Given the description of an element on the screen output the (x, y) to click on. 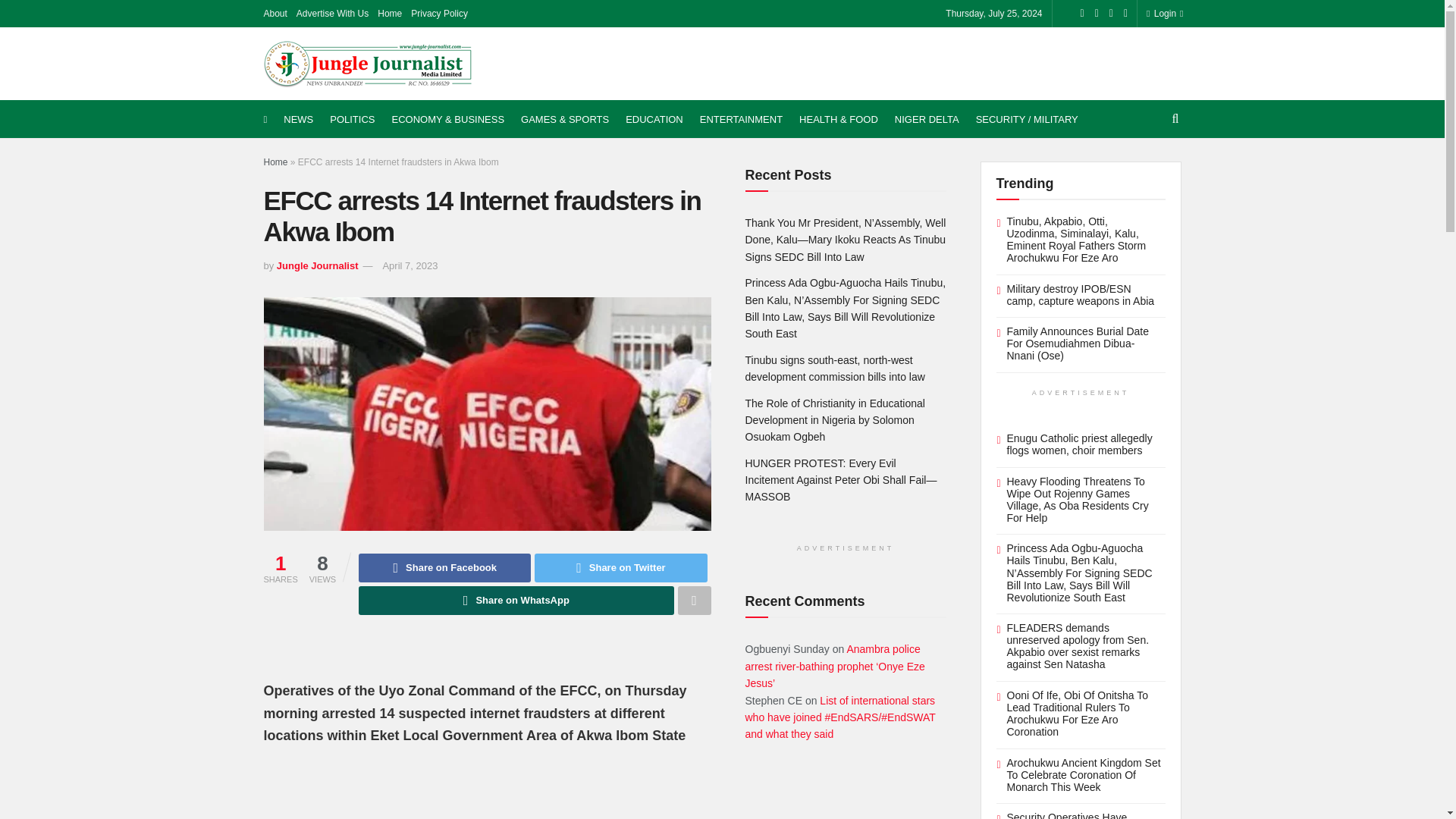
Privacy Policy (438, 13)
Login (1161, 13)
POLITICS (352, 119)
Home (389, 13)
NIGER DELTA (927, 119)
About (274, 13)
EDUCATION (654, 119)
ENTERTAINMENT (741, 119)
Advertise With Us (332, 13)
NEWS (298, 119)
